Given the description of an element on the screen output the (x, y) to click on. 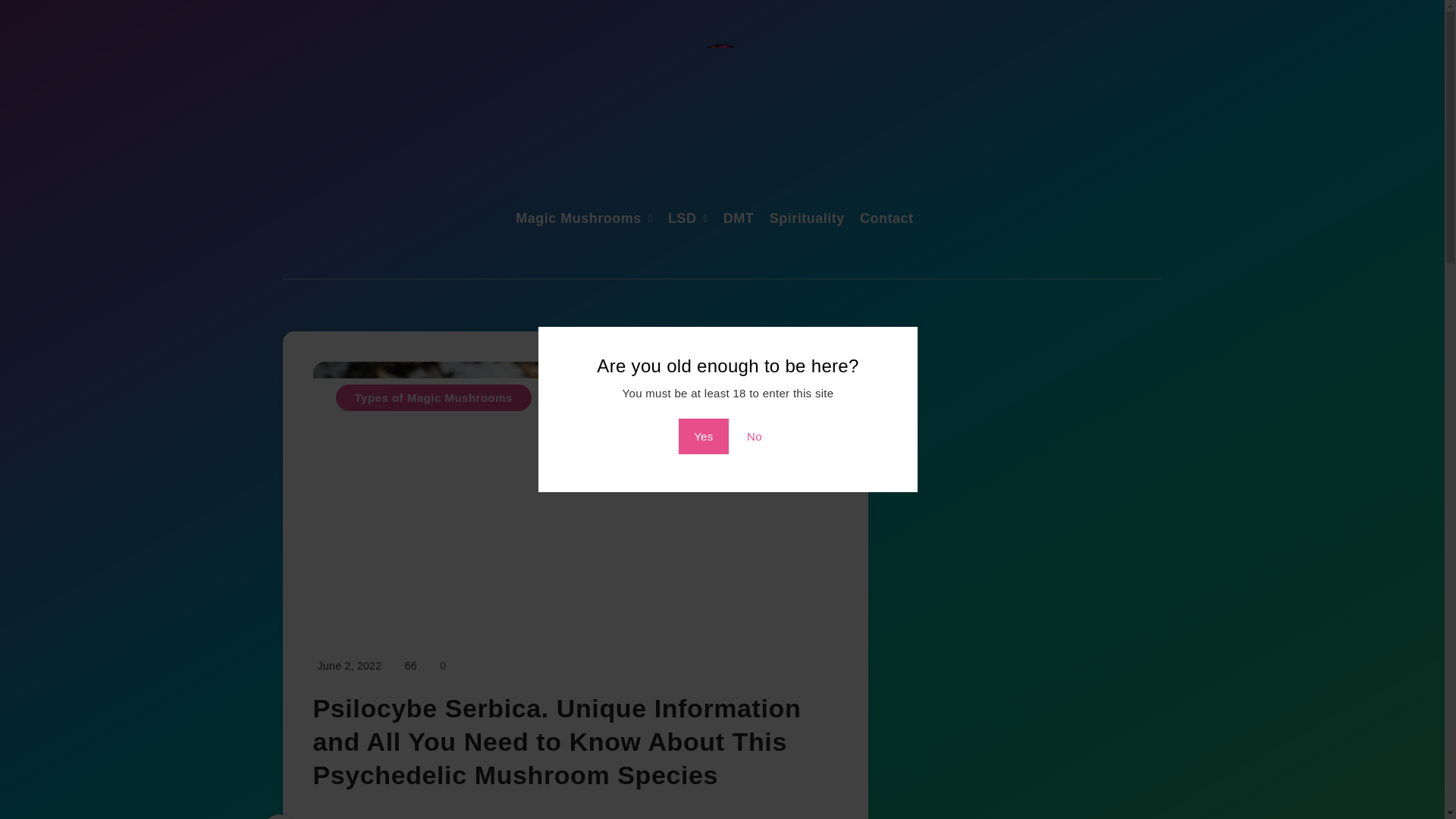
Magic Mushrooms (578, 219)
Yes (703, 436)
LSD (682, 219)
Contact (887, 219)
Spirituality (807, 219)
Views (409, 665)
DMT (738, 219)
No (754, 436)
Types of Magic Mushrooms (432, 397)
